Given the description of an element on the screen output the (x, y) to click on. 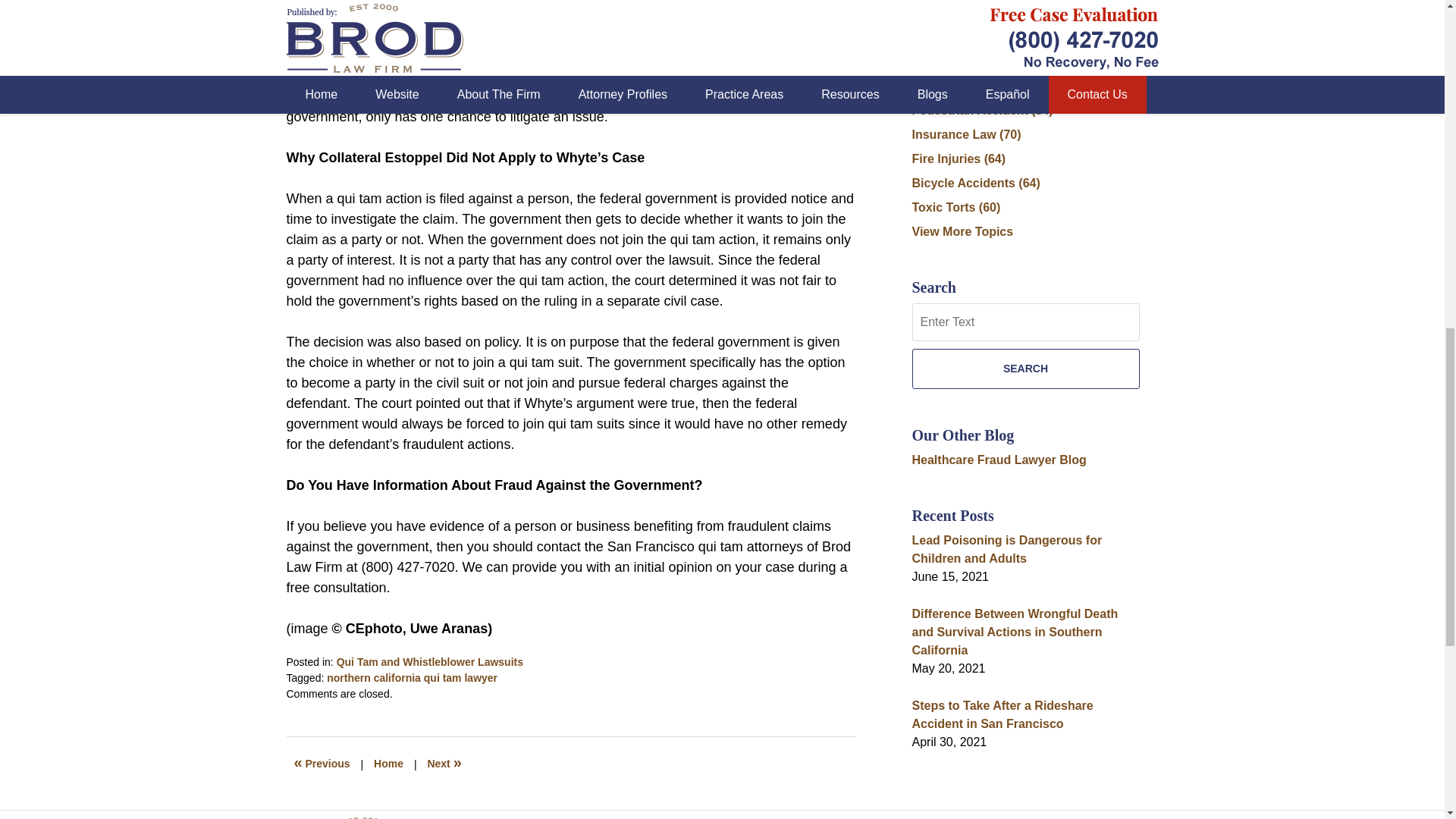
northern california qui tam lawyer (411, 677)
Home (388, 764)
collateral estoppel (380, 0)
Qui Tam and Whistleblower Lawsuits (429, 662)
Signs You Have Bed Bugs (322, 764)
View all posts in Qui Tam and Whistleblower Lawsuits (429, 662)
